Given the description of an element on the screen output the (x, y) to click on. 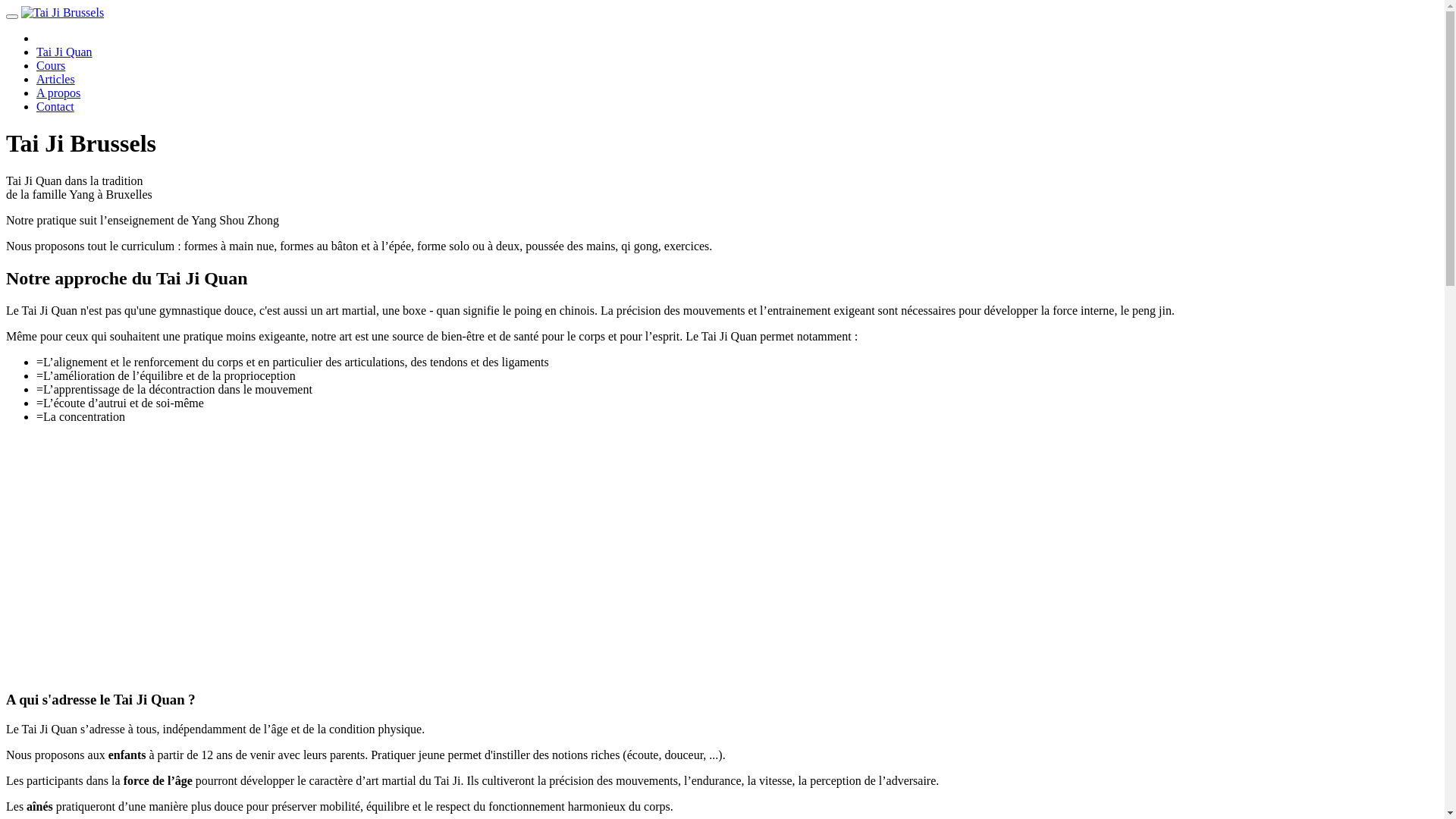
Tai Ji Quan Element type: text (64, 51)
A propos Element type: text (58, 92)
Articles Element type: text (55, 78)
Contact Element type: text (55, 106)
Cours Element type: text (50, 65)
YouTube video player Element type: hover (218, 555)
